Given the description of an element on the screen output the (x, y) to click on. 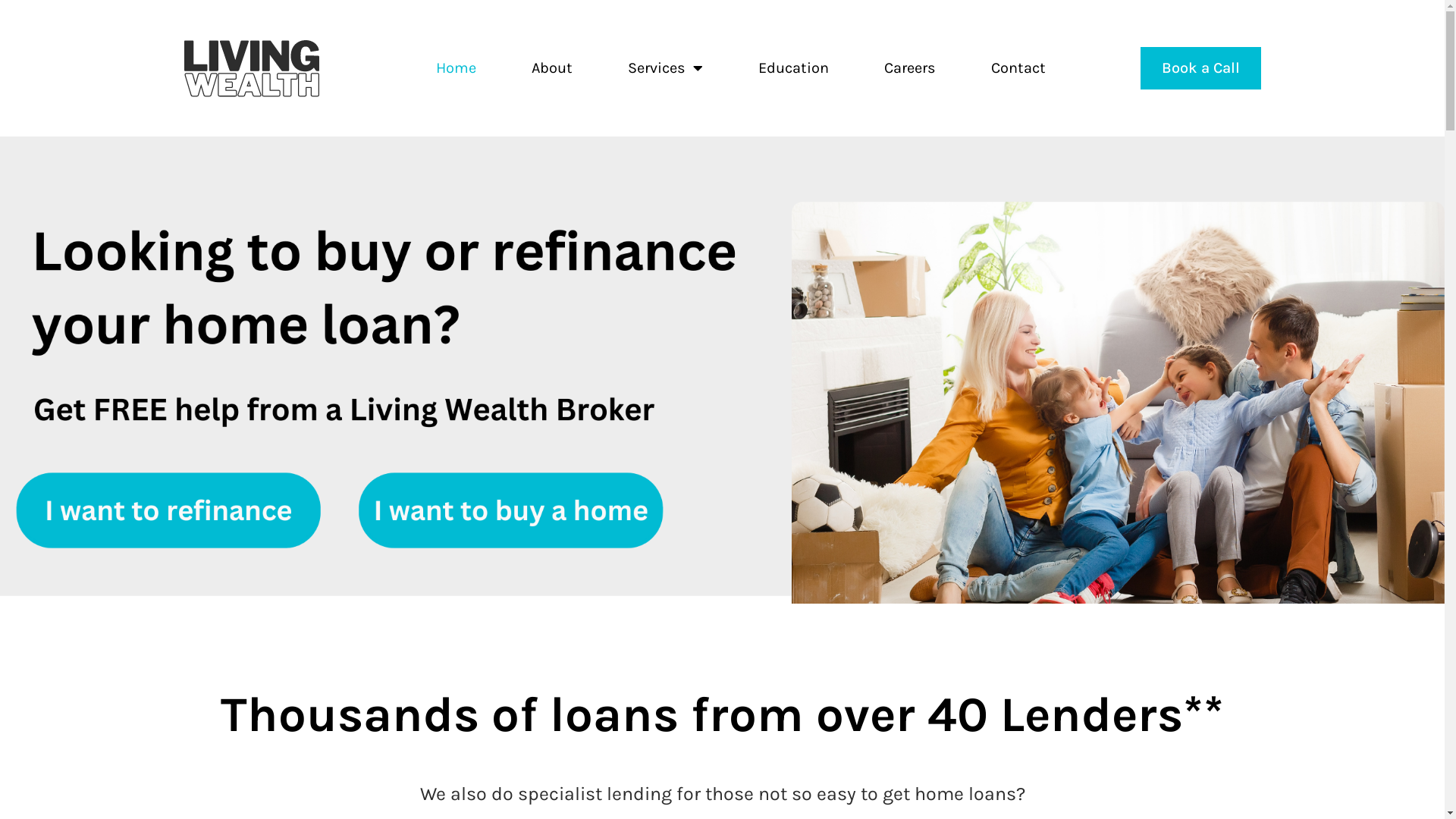
Contact Element type: text (1017, 67)
Services Element type: text (665, 67)
Home Element type: text (455, 67)
Book a Call Element type: text (1200, 68)
Careers Element type: text (909, 67)
Education Element type: text (793, 67)
About Element type: text (551, 67)
